Given the description of an element on the screen output the (x, y) to click on. 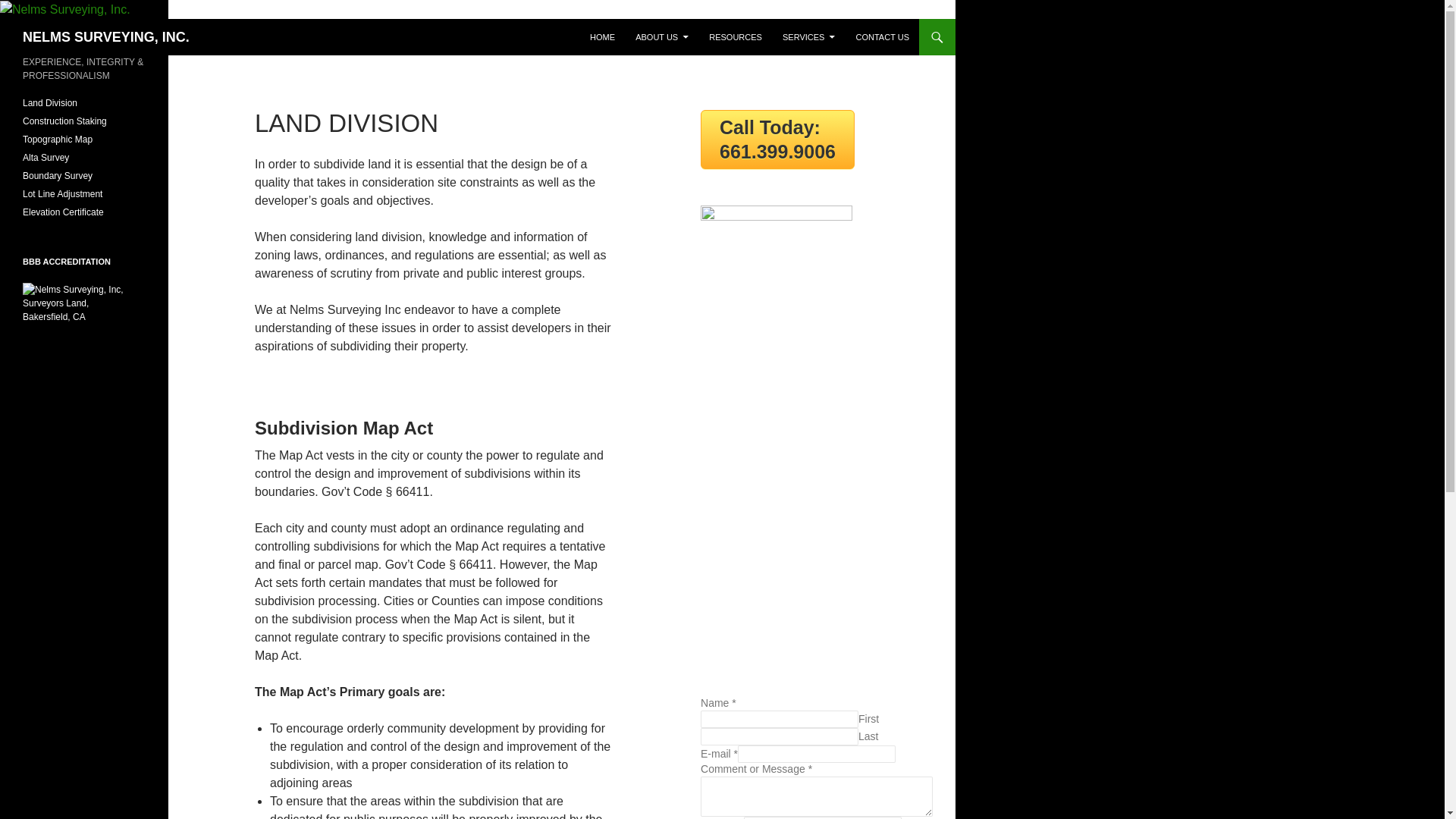
Land Division (50, 102)
RESOURCES (735, 36)
HOME (602, 36)
Boundary Survey (58, 175)
ABOUT US (661, 36)
CONTACT US (881, 36)
NELMS SURVEYING, INC. (106, 36)
Lot Line Adjustment (62, 194)
SERVICES (808, 36)
Construction Staking (64, 121)
Alta Survey (45, 157)
Topographic Map (58, 139)
Elevation Certificate (63, 212)
